Given the description of an element on the screen output the (x, y) to click on. 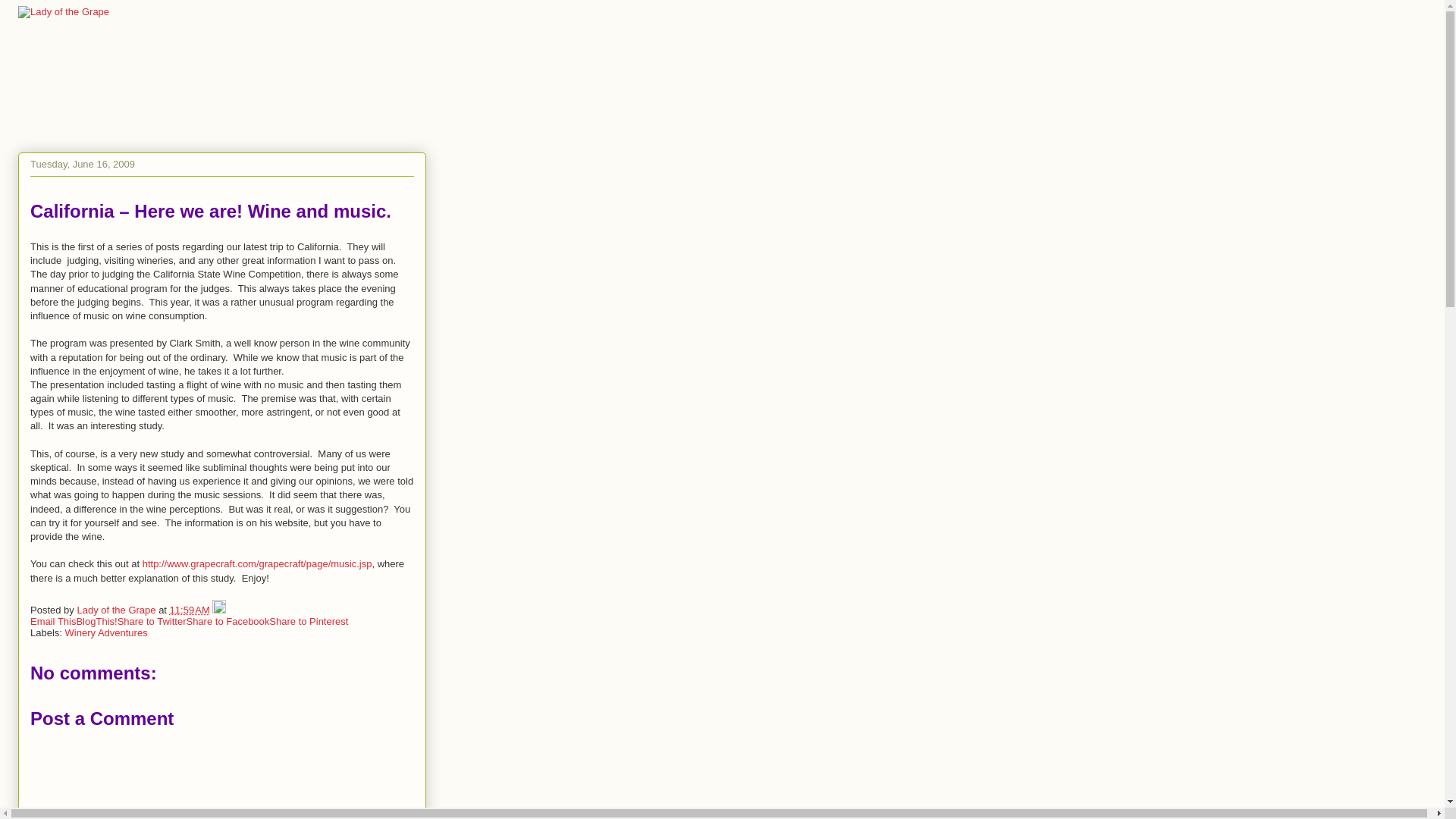
Share to Facebook (227, 621)
permanent link (189, 609)
Share to Twitter (151, 621)
Lady of the Grape (117, 609)
Edit Post (218, 609)
author profile (117, 609)
Share to Pinterest (308, 621)
BlogThis! (95, 621)
Share to Pinterest (308, 621)
Share to Twitter (151, 621)
Winery Adventures (106, 632)
Email This (52, 621)
Email This (52, 621)
BlogThis! (95, 621)
